Given the description of an element on the screen output the (x, y) to click on. 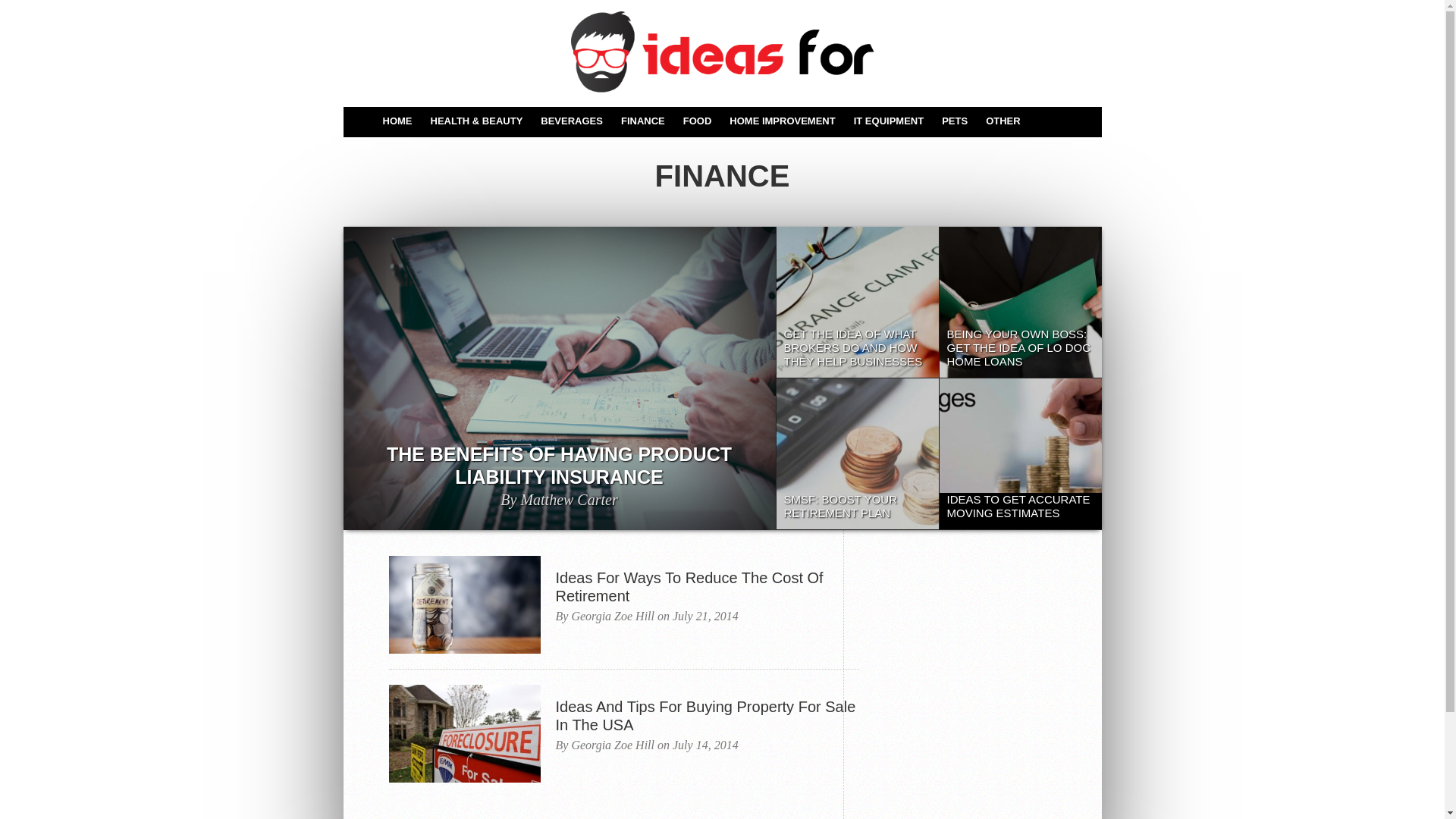
PETS Element type: text (954, 120)
Ideas For Ways To Reduce The Cost Of Retirement Element type: text (706, 586)
BEVERAGES Element type: text (571, 120)
IT EQUIPMENT Element type: text (888, 120)
HEALTH & BEAUTY Element type: text (476, 120)
HOME IMPROVEMENT Element type: text (782, 120)
Ideas For Blog -  Element type: hover (721, 51)
OTHER Element type: text (1002, 120)
FOOD Element type: text (697, 120)
HOME Element type: text (396, 120)
Ideas And Tips For Buying Property For Sale In The USA Element type: text (706, 715)
FINANCE Element type: text (642, 120)
